Given the description of an element on the screen output the (x, y) to click on. 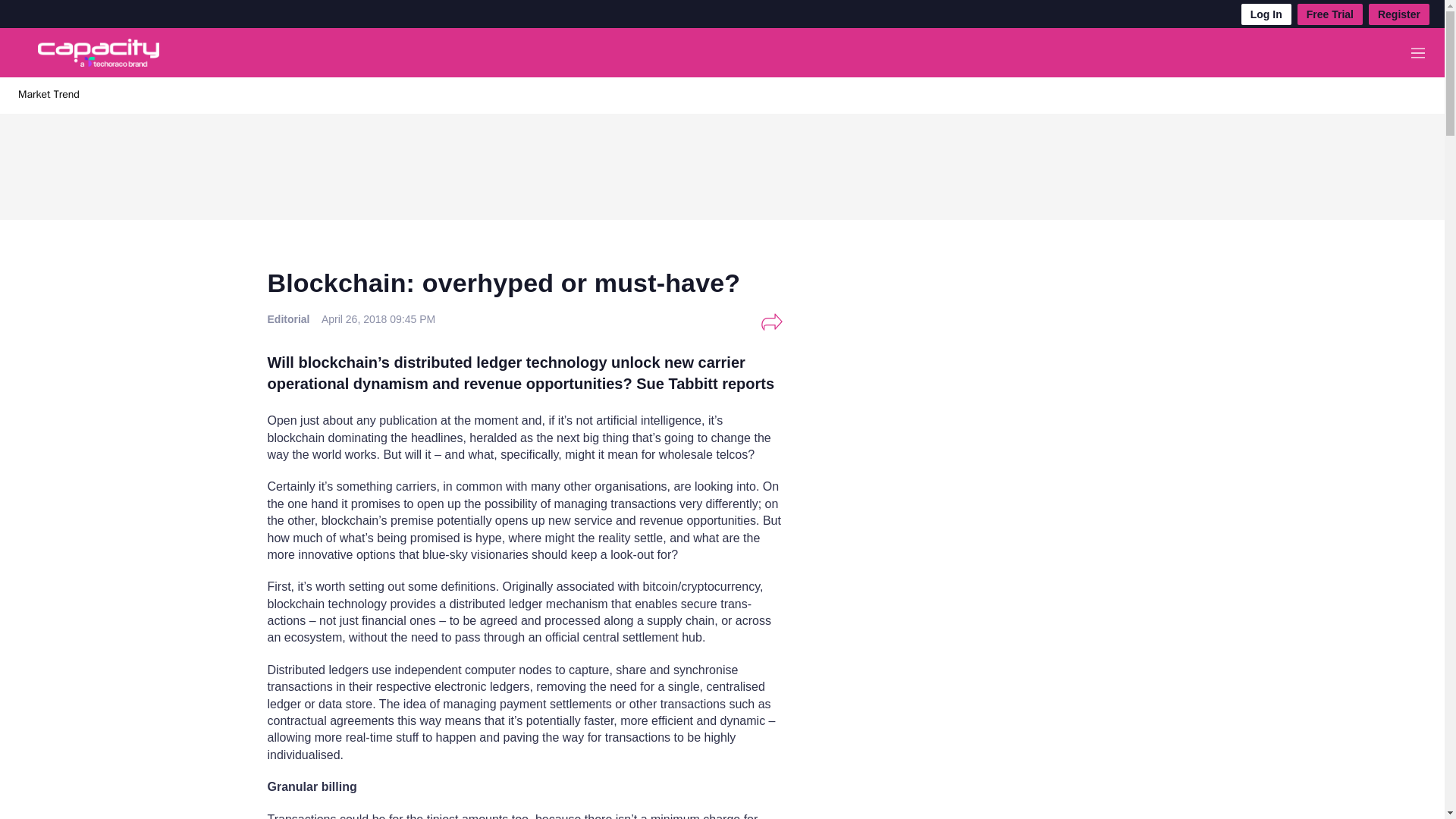
3rd party ad content (979, 375)
3rd party ad content (721, 162)
Register (1398, 13)
Free Trial (1329, 13)
Log In (1266, 13)
Share (771, 322)
3rd party ad content (979, 579)
